Given the description of an element on the screen output the (x, y) to click on. 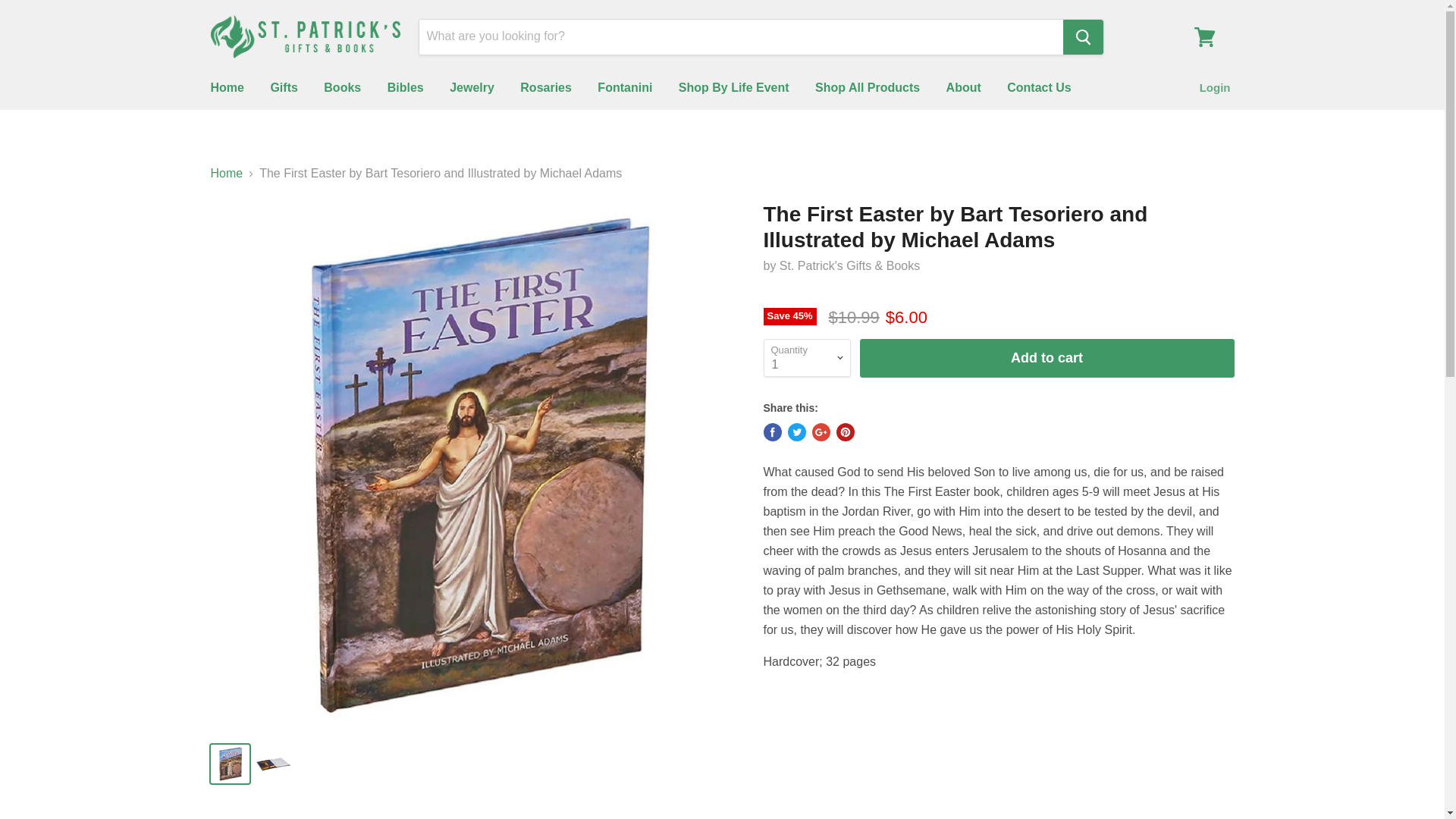
Home (226, 88)
Gifts (283, 88)
View cart (1204, 36)
